Given the description of an element on the screen output the (x, y) to click on. 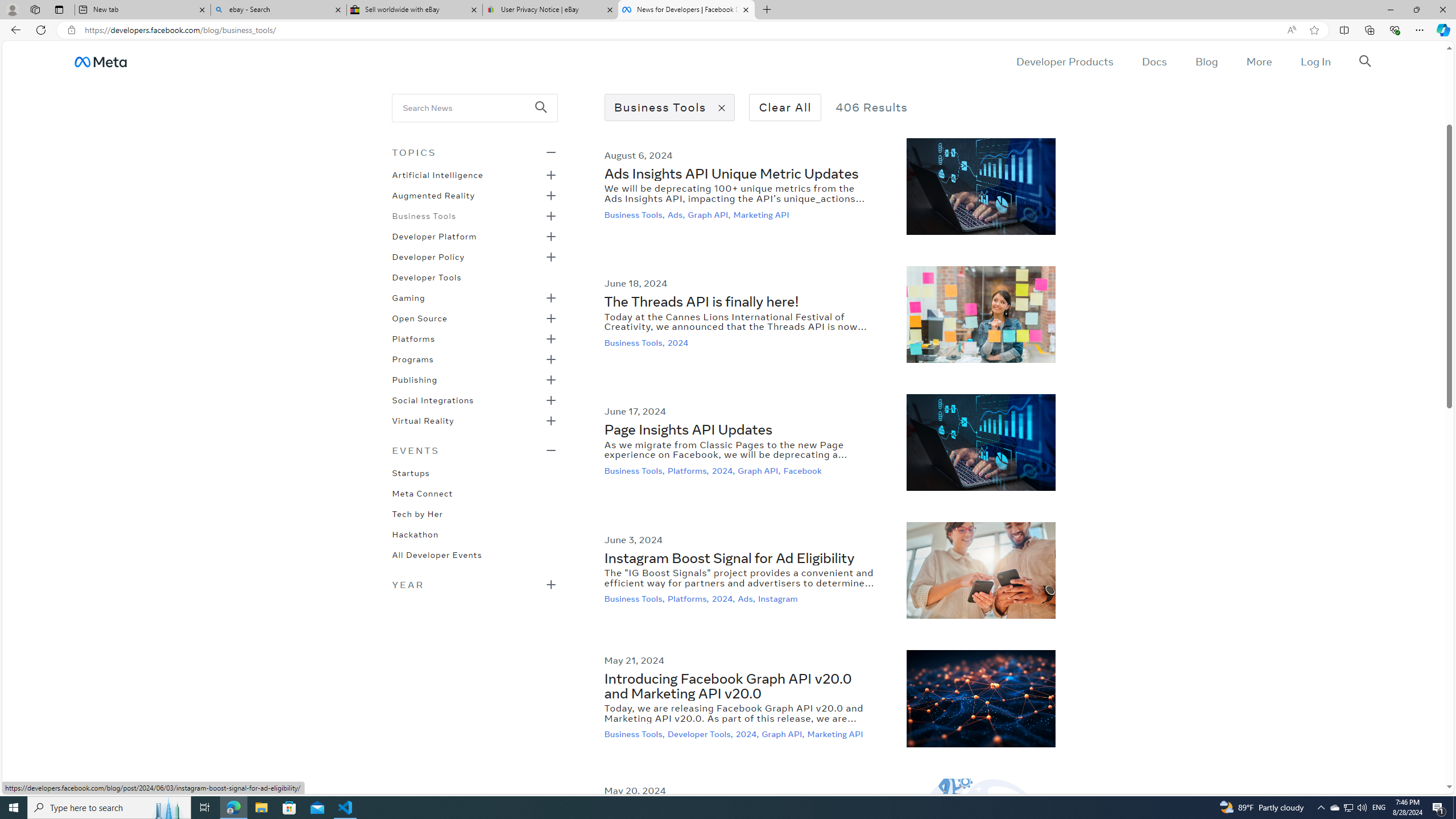
Settings and more (Alt+F) (1419, 29)
Sell worldwide with eBay (414, 9)
Developer Policy (428, 255)
Augmented Reality (433, 194)
2024 (678, 342)
Add this page to favorites (Ctrl+D) (1314, 29)
Class: _58al (467, 107)
Docs (1153, 61)
Developer Platform (434, 235)
Platforms, (688, 598)
Workspaces (34, 9)
More (1259, 61)
Class: _98ce (545, 115)
Marketing API (836, 733)
Developer Products (1064, 61)
